Given the description of an element on the screen output the (x, y) to click on. 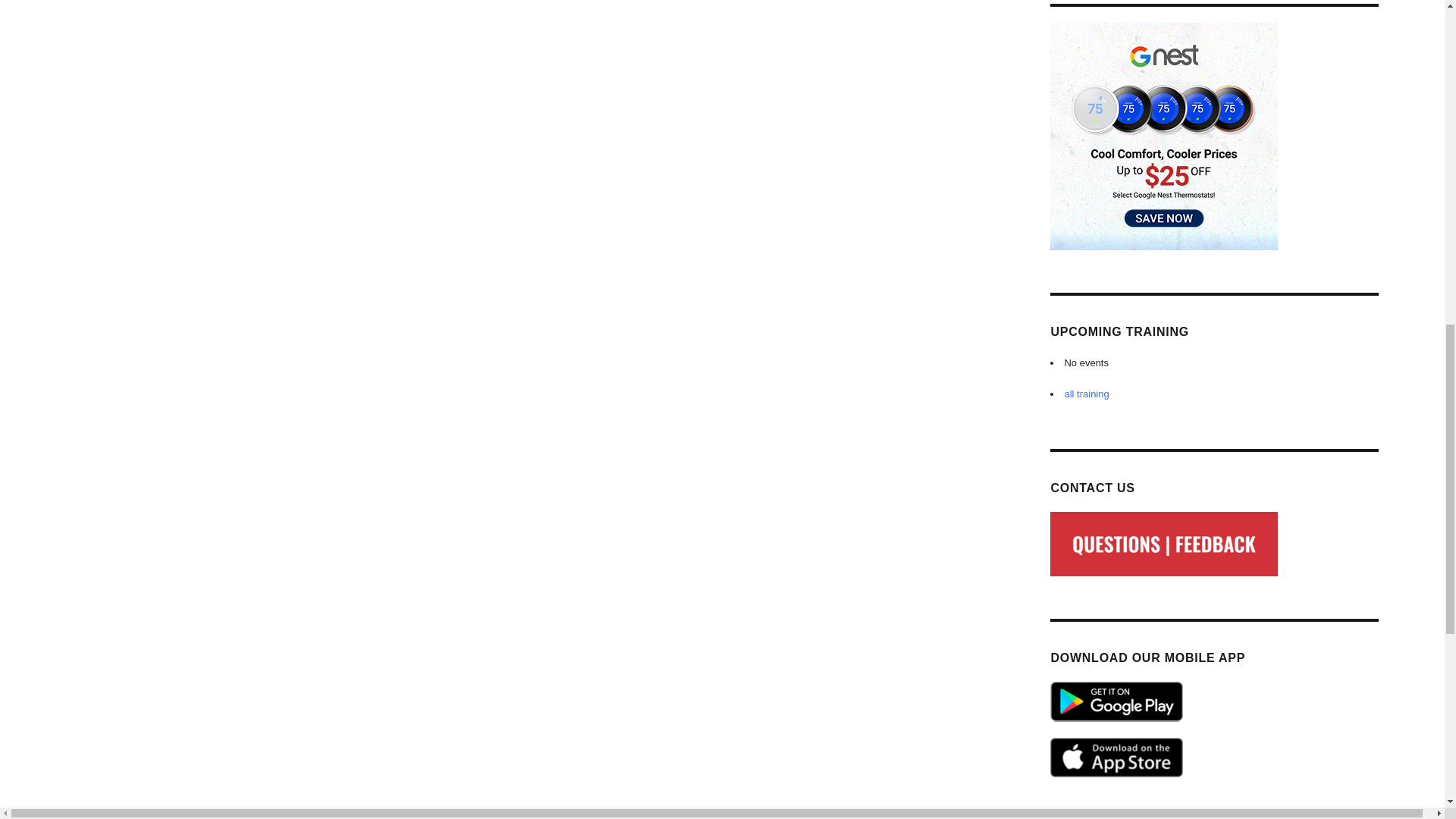
all training (1086, 393)
all training (1086, 393)
